Given the description of an element on the screen output the (x, y) to click on. 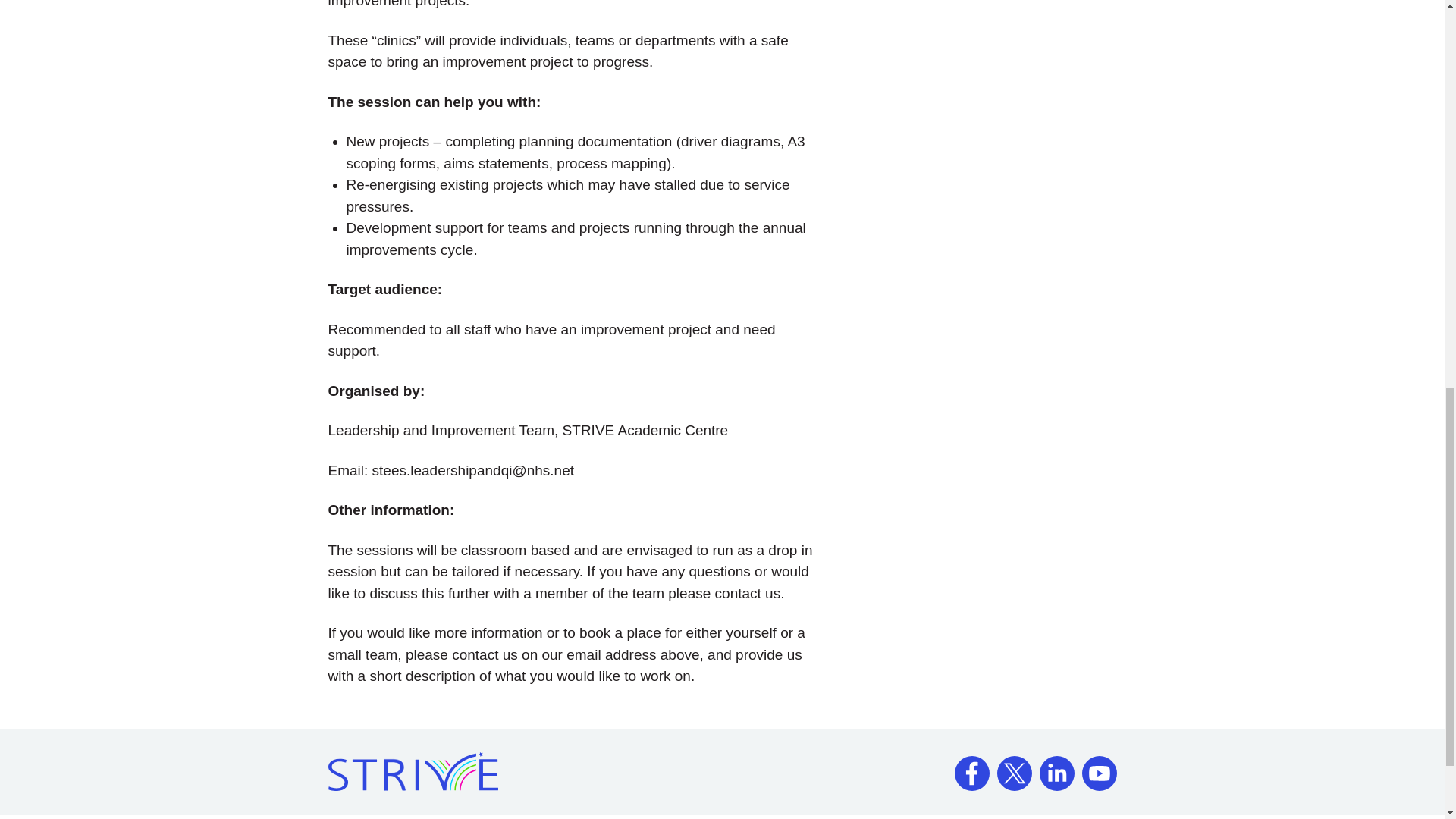
Group 8 (1056, 768)
Group 7 (1012, 768)
Group 9 (1098, 768)
Group 5 (970, 768)
